Given the description of an element on the screen output the (x, y) to click on. 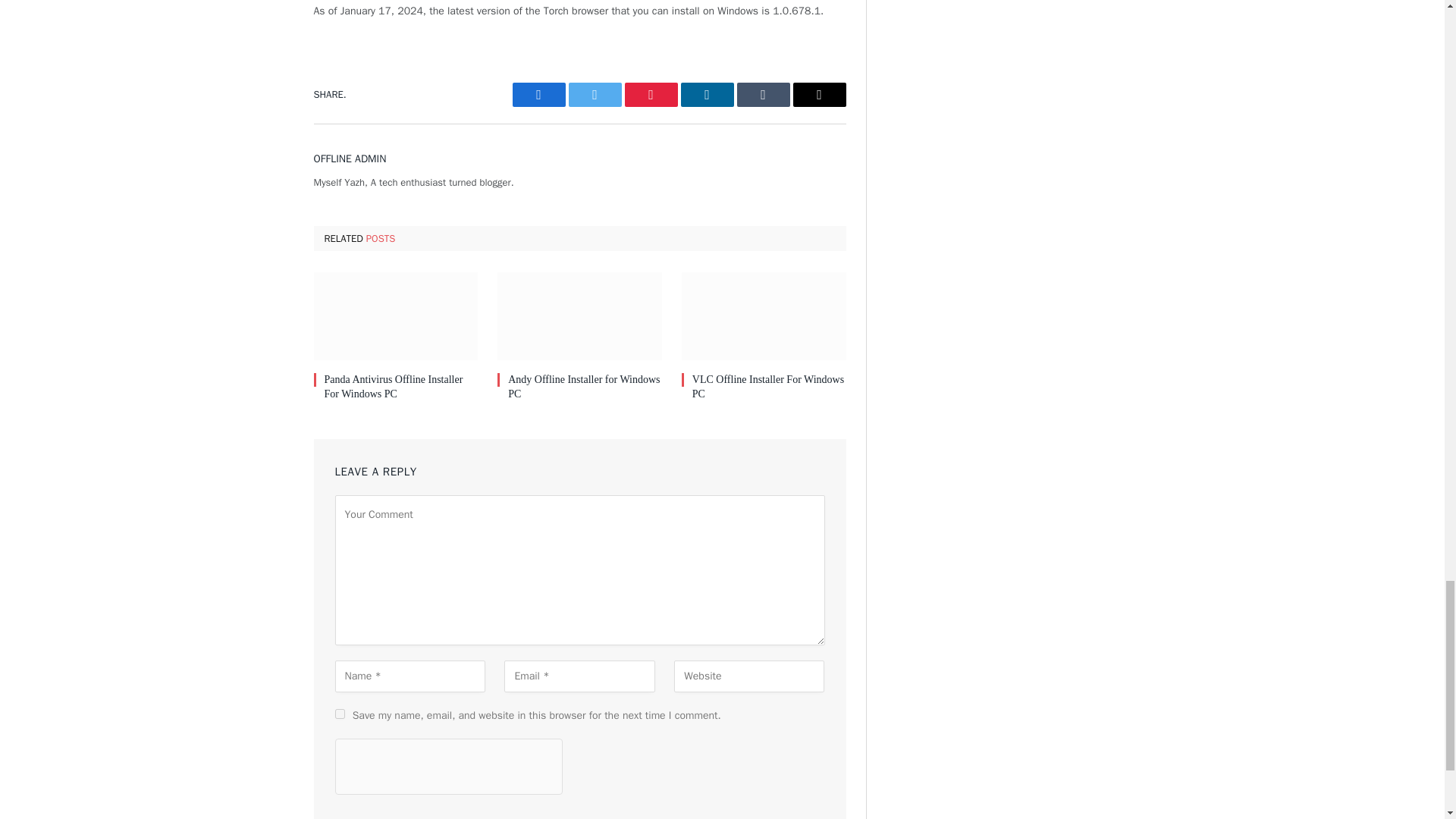
Facebook (539, 94)
Twitter (595, 94)
yes (339, 714)
Share on Facebook (539, 94)
Pinterest (651, 94)
